Given the description of an element on the screen output the (x, y) to click on. 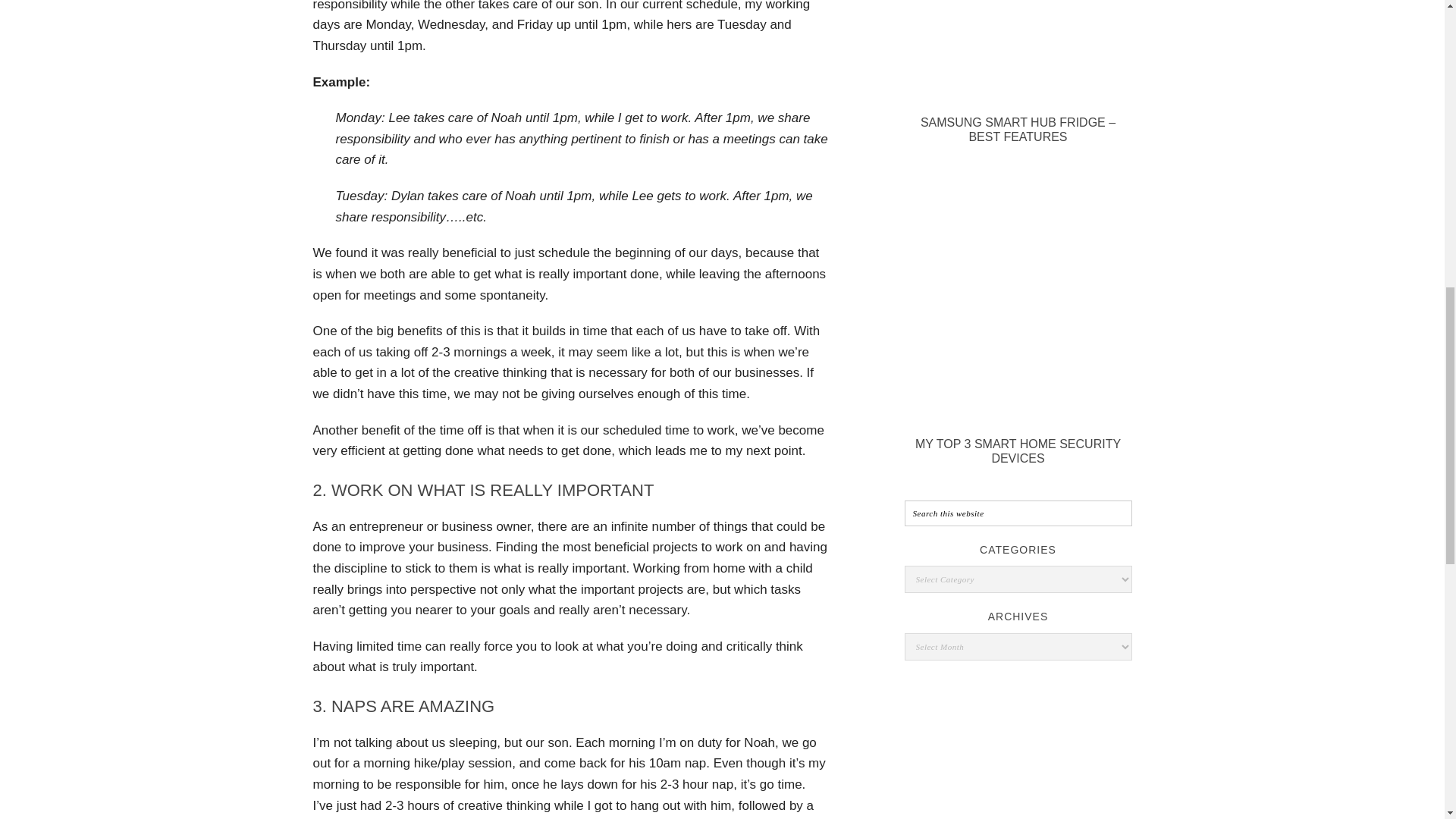
My Top 3 Smart Home Security Devices (1017, 418)
MY TOP 3 SMART HOME SECURITY DEVICES (1018, 451)
